Given the description of an element on the screen output the (x, y) to click on. 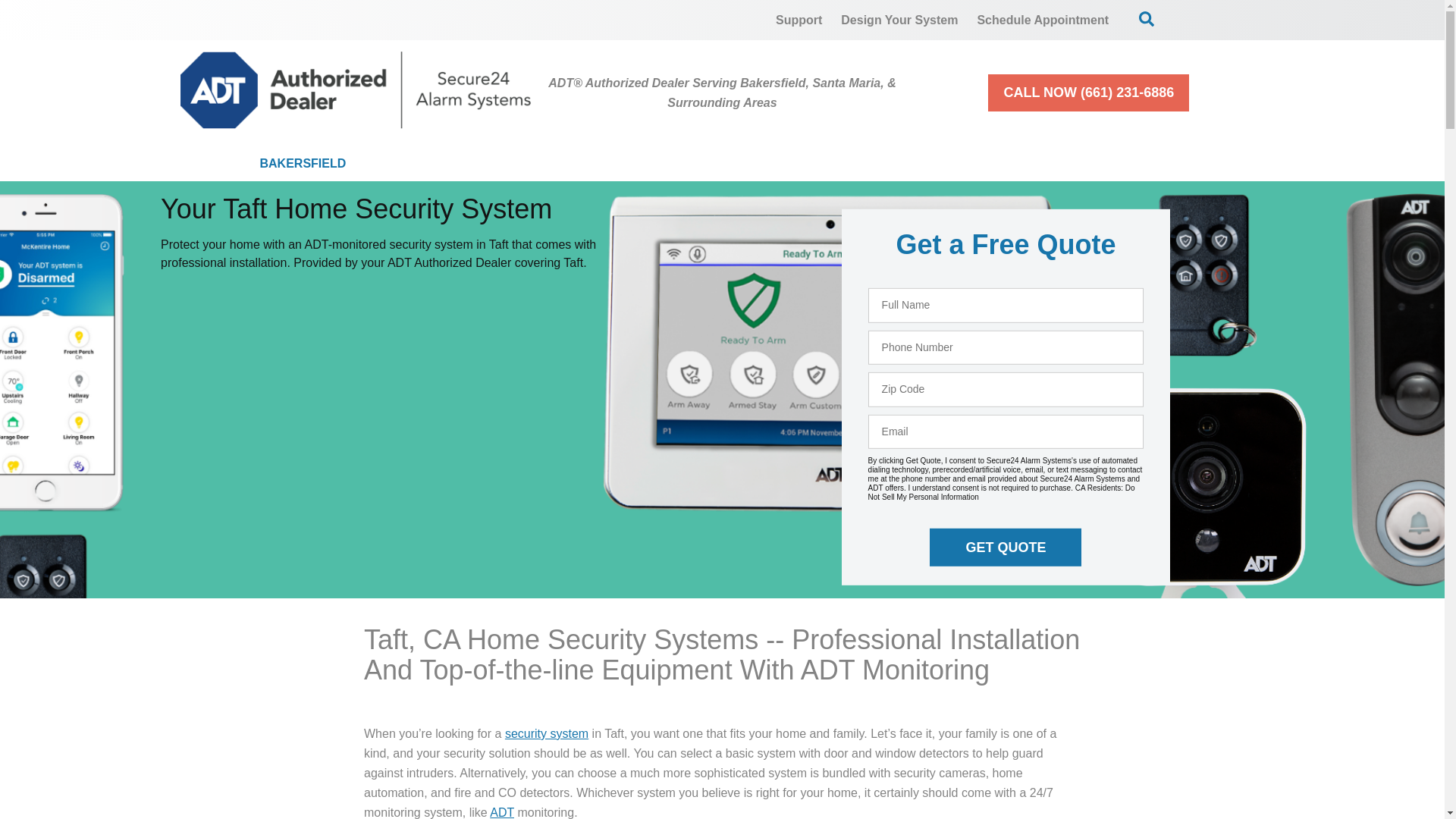
Home Security (458, 163)
Home Automation (759, 163)
Schedule Appointment (1042, 20)
Design Your System (898, 20)
Support (798, 20)
Cameras (604, 163)
Open Search (1146, 18)
GET QUOTE (1005, 547)
Secure24 Alarm Systems Home (355, 89)
